Given the description of an element on the screen output the (x, y) to click on. 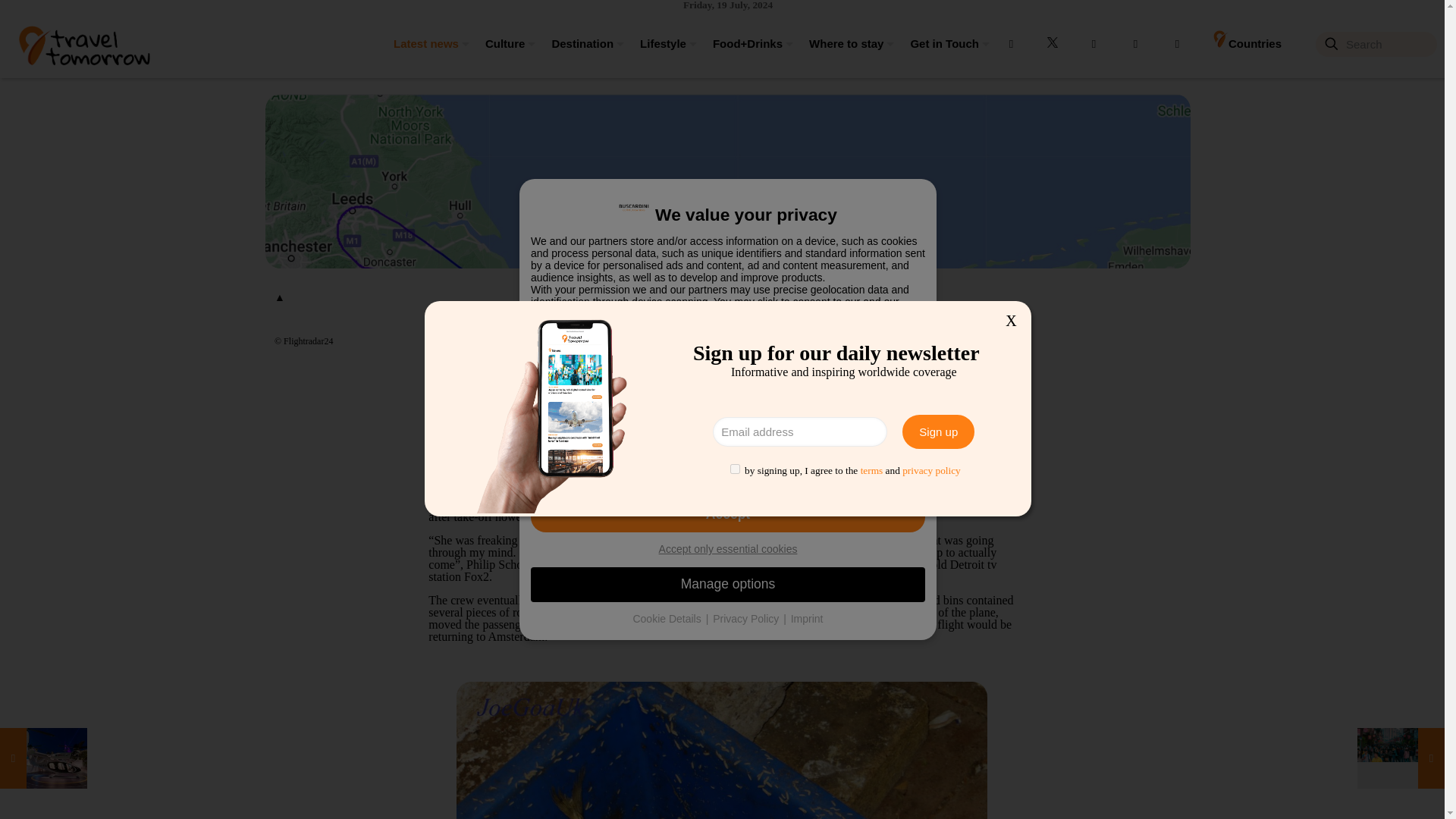
Sign up (938, 430)
Destination (579, 43)
Latest news (424, 43)
1 (734, 469)
Share on WhatsApp (932, 343)
Share on Twitter (853, 343)
Lifestyle (660, 43)
Share on LinkedIn (880, 343)
Share on Email (906, 343)
Culture (503, 43)
Travel Tomorrow (83, 43)
Share on Facebook (826, 343)
